Given the description of an element on the screen output the (x, y) to click on. 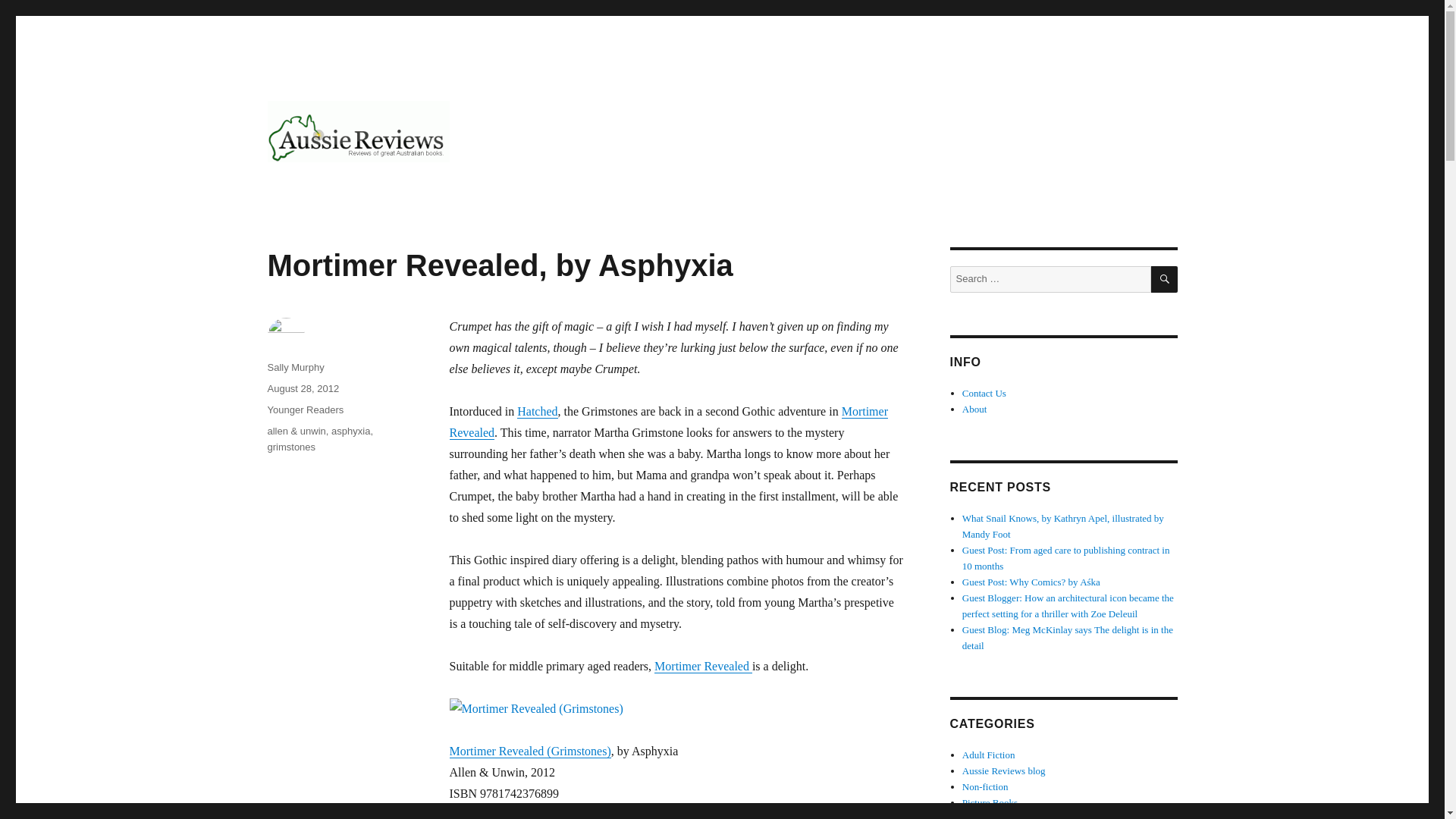
Mortimer Revealed (668, 421)
Hatched (536, 410)
asphyxia (350, 430)
Aussie Reviews (347, 186)
Mortimer Revealed (702, 666)
Younger Readers (304, 409)
SEARCH (1164, 279)
What Snail Knows, by Kathryn Apel, illustrated by Mandy Foot (1062, 525)
Contact Us (984, 392)
Guest Blog: Meg McKinlay says The delight is in the detail (1067, 637)
